Given the description of an element on the screen output the (x, y) to click on. 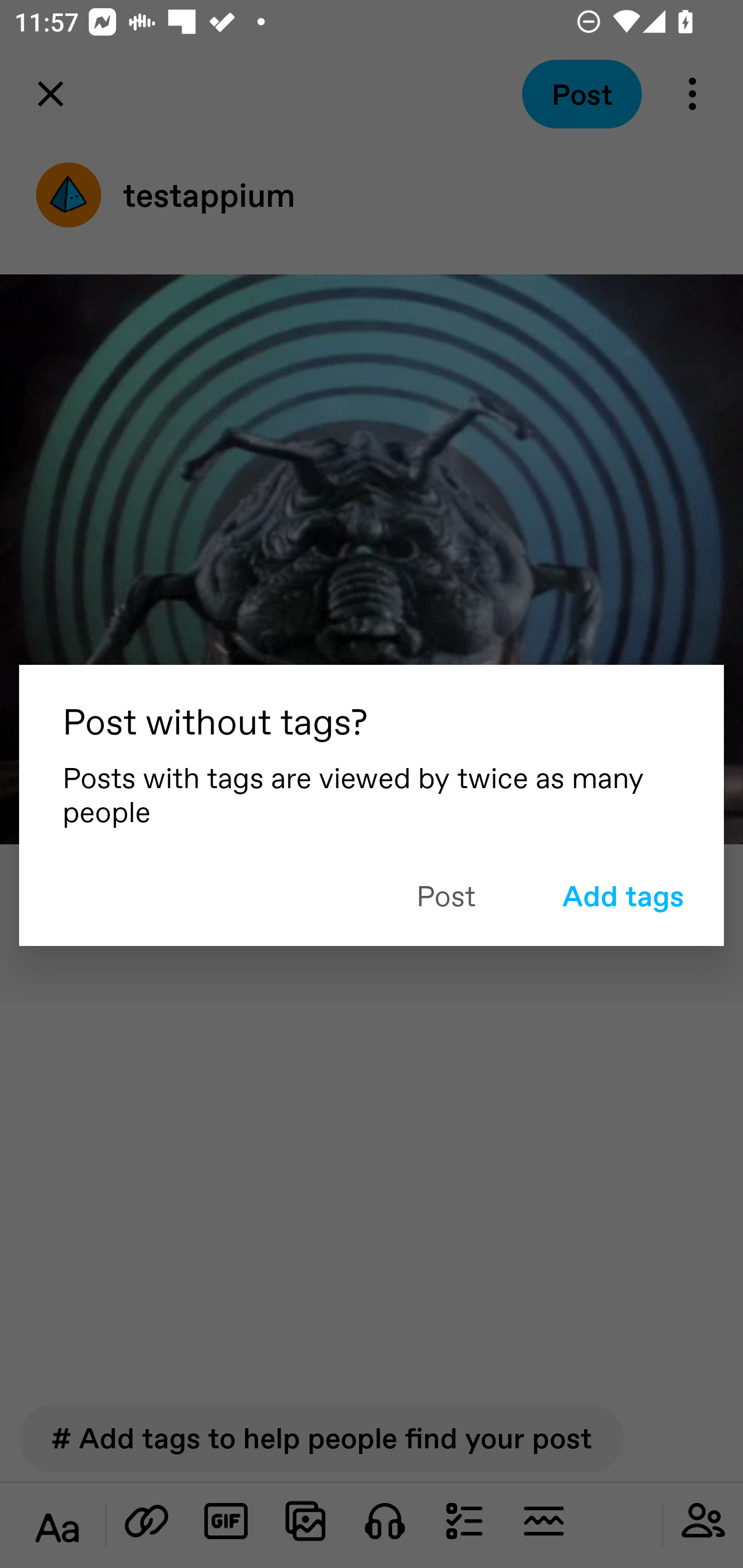
Post (445, 894)
Add tags (622, 895)
